Given the description of an element on the screen output the (x, y) to click on. 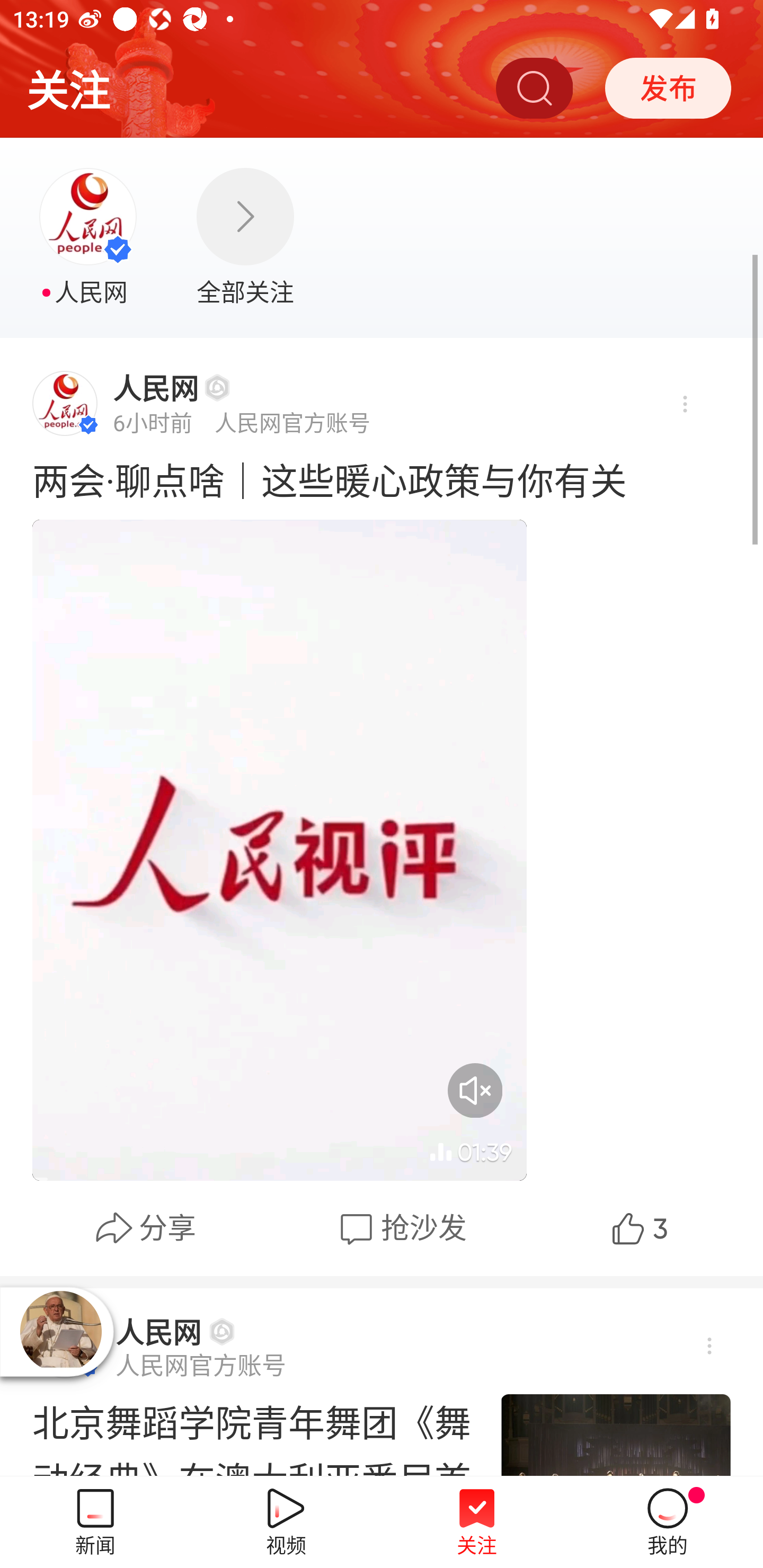
搜索 关注 (534, 87)
发布 关注 (667, 87)
关注 (67, 87)
人民网，可点击 (90, 237)
全部关注，可点击 (244, 237)
人民网 (155, 387)
勋章 (216, 387)
 不感兴趣 (683, 404)
6小时前　人民网官方账号 (241, 422)
两会·聊点啥｜这些暖心政策与你有关 (381, 478)
音量开关 (474, 1090)
分享  分享 (144, 1228)
抢沙发  抢沙发 (400, 1228)
3赞 (637, 1228)
播放器 (60, 1331)
人民网 (158, 1331)
勋章 (221, 1331)
 不感兴趣 (707, 1345)
人民网官方账号 (200, 1365)
